Given the description of an element on the screen output the (x, y) to click on. 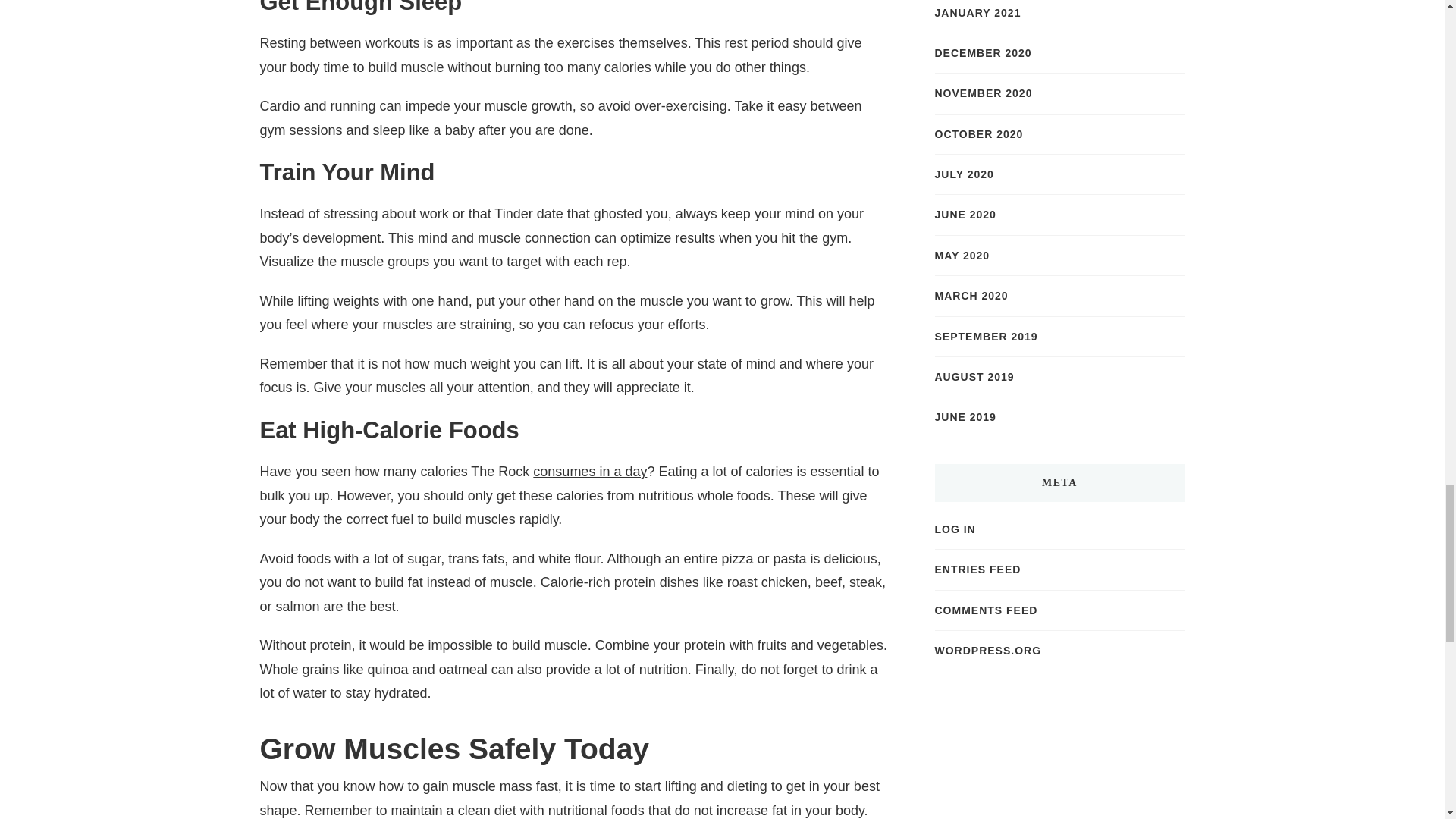
consumes in a day (589, 471)
